Given the description of an element on the screen output the (x, y) to click on. 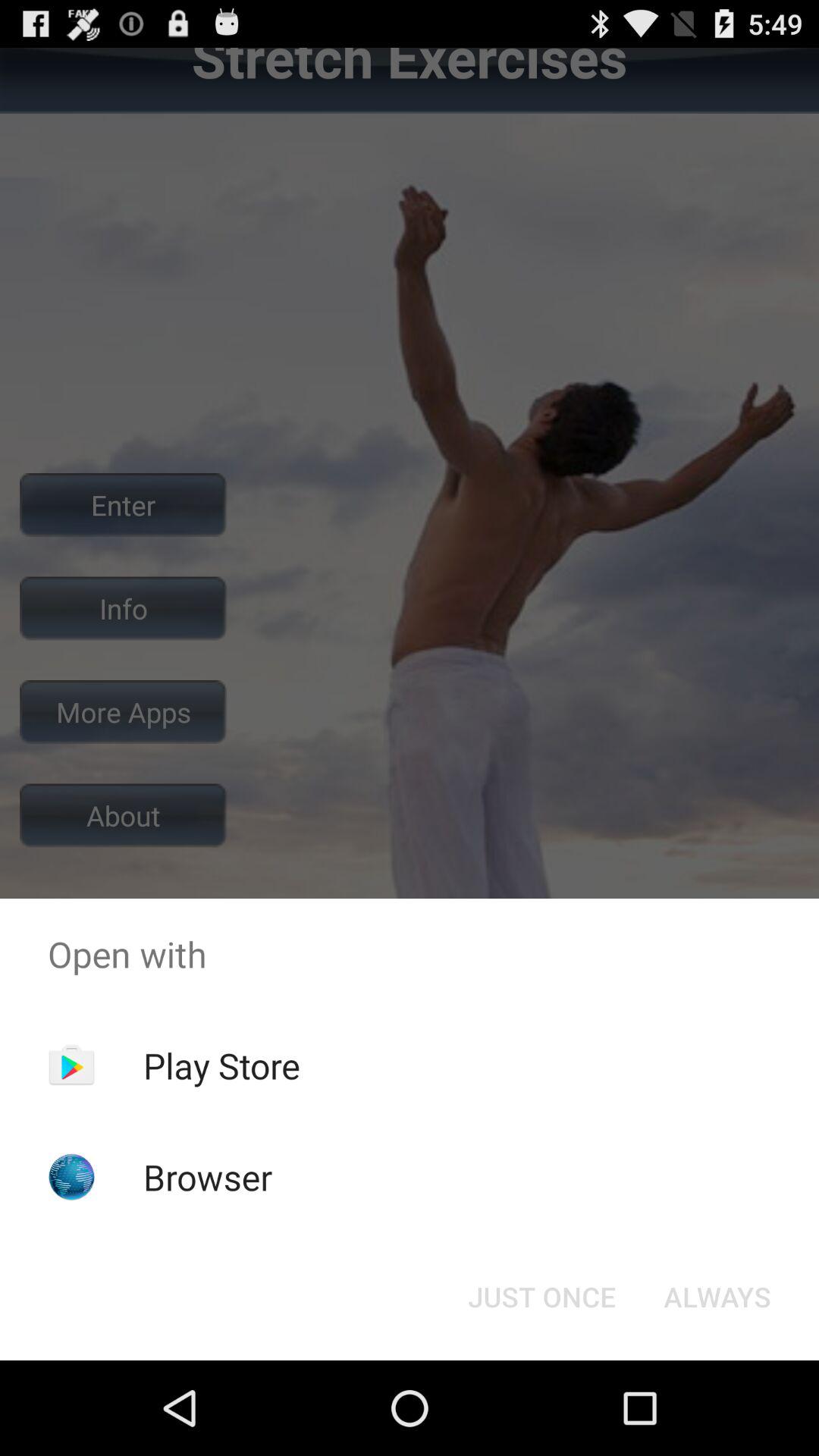
click the icon below open with (221, 1065)
